Given the description of an element on the screen output the (x, y) to click on. 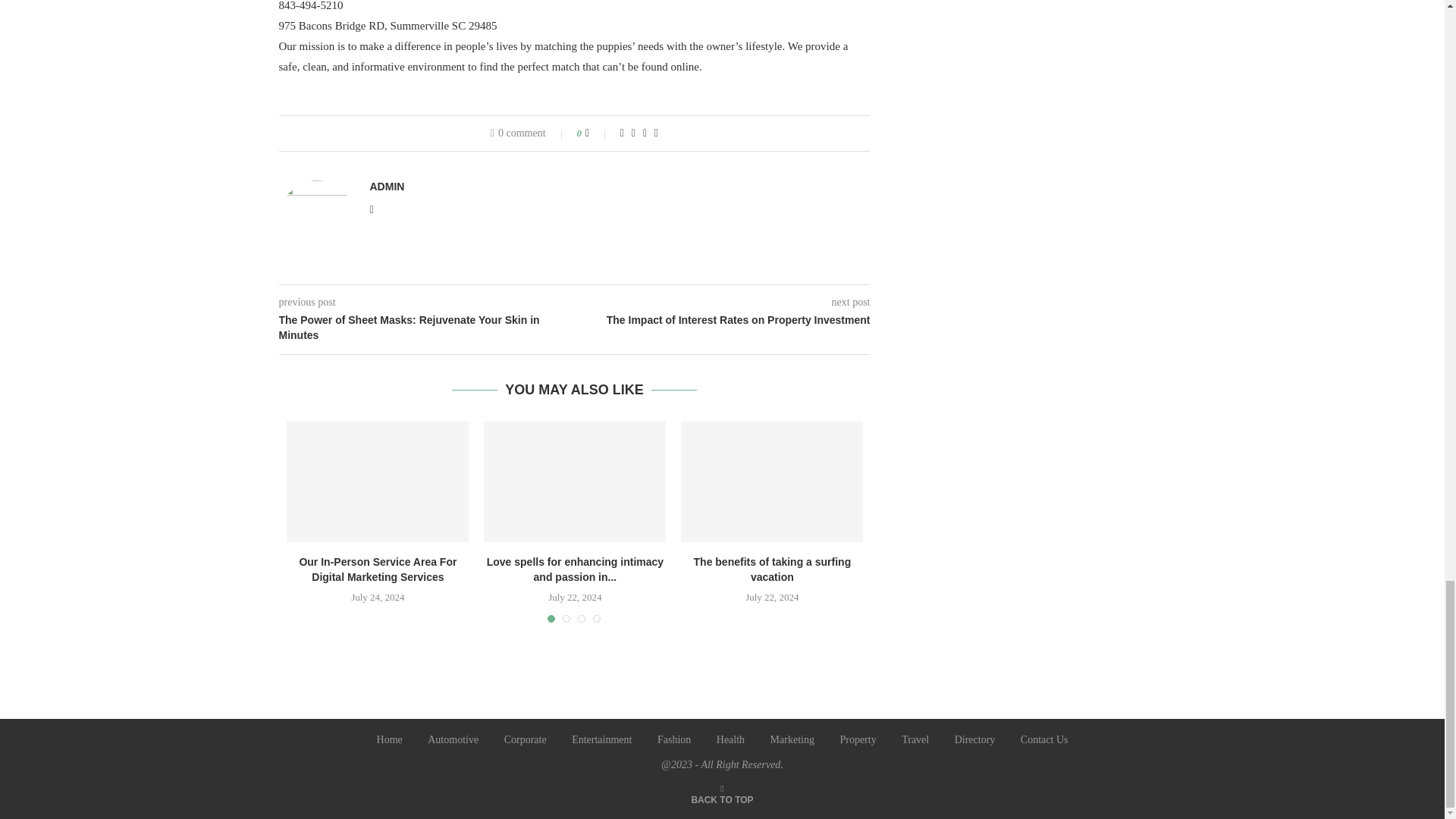
The benefits of taking a surfing vacation (772, 481)
Author admin (386, 186)
Like (597, 133)
Our In-Person Service Area For Digital Marketing Services (377, 481)
